Given the description of an element on the screen output the (x, y) to click on. 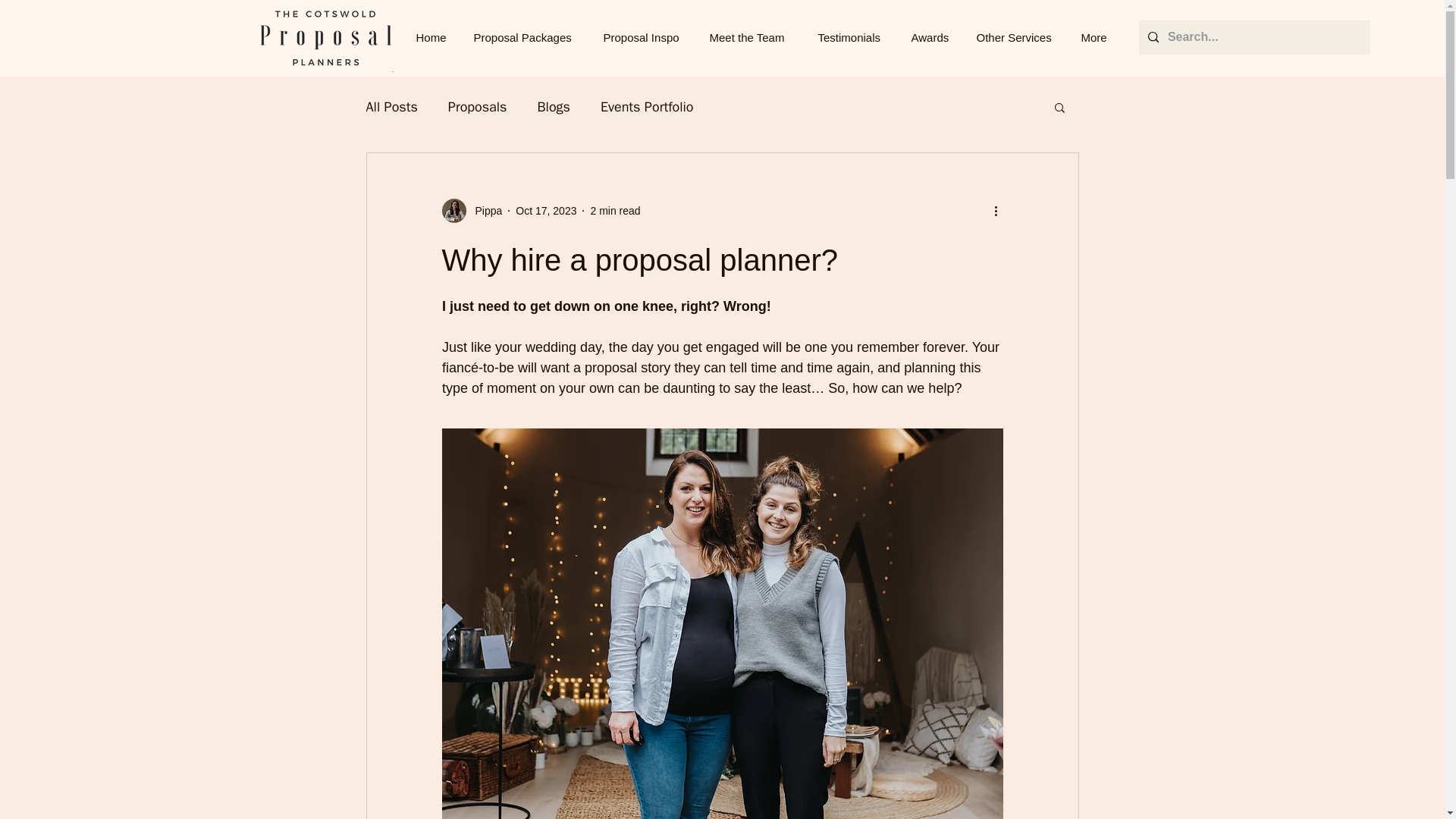
Home (433, 36)
Awards (931, 36)
Other Services (1015, 36)
Pippa (483, 211)
Meet the Team (751, 36)
Pippa (471, 210)
Testimonials (852, 36)
All Posts (390, 106)
Proposal Packages (527, 36)
Oct 17, 2023 (545, 210)
Proposal Inspo (644, 36)
2 min read (614, 210)
Proposals (477, 106)
Blogs (553, 106)
Events Portfolio (646, 106)
